Given the description of an element on the screen output the (x, y) to click on. 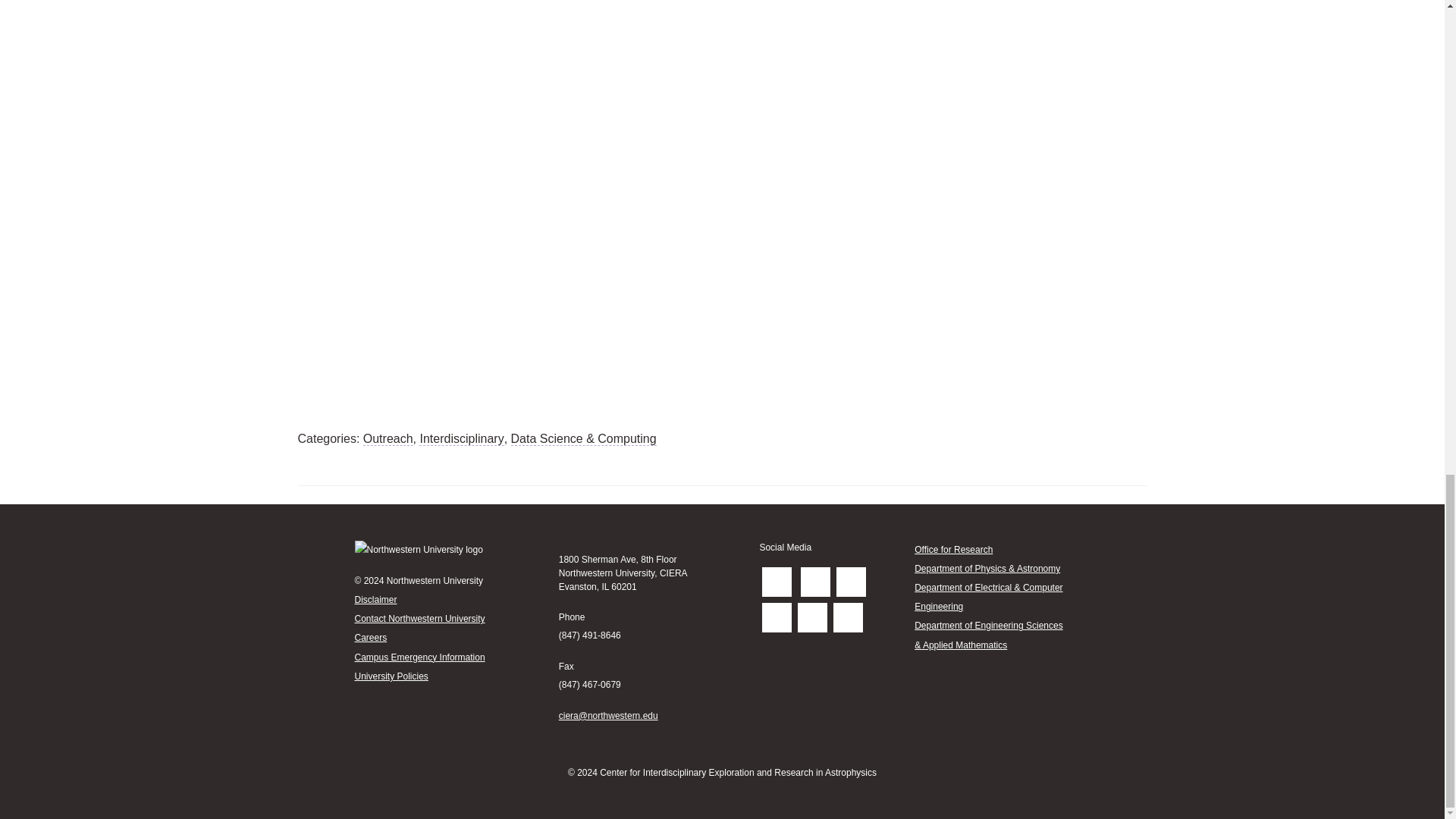
LinkedIn (776, 617)
YouTube (812, 617)
Facebook (814, 582)
Instagram (847, 617)
rss feed (776, 582)
Twitter (850, 582)
